Given the description of an element on the screen output the (x, y) to click on. 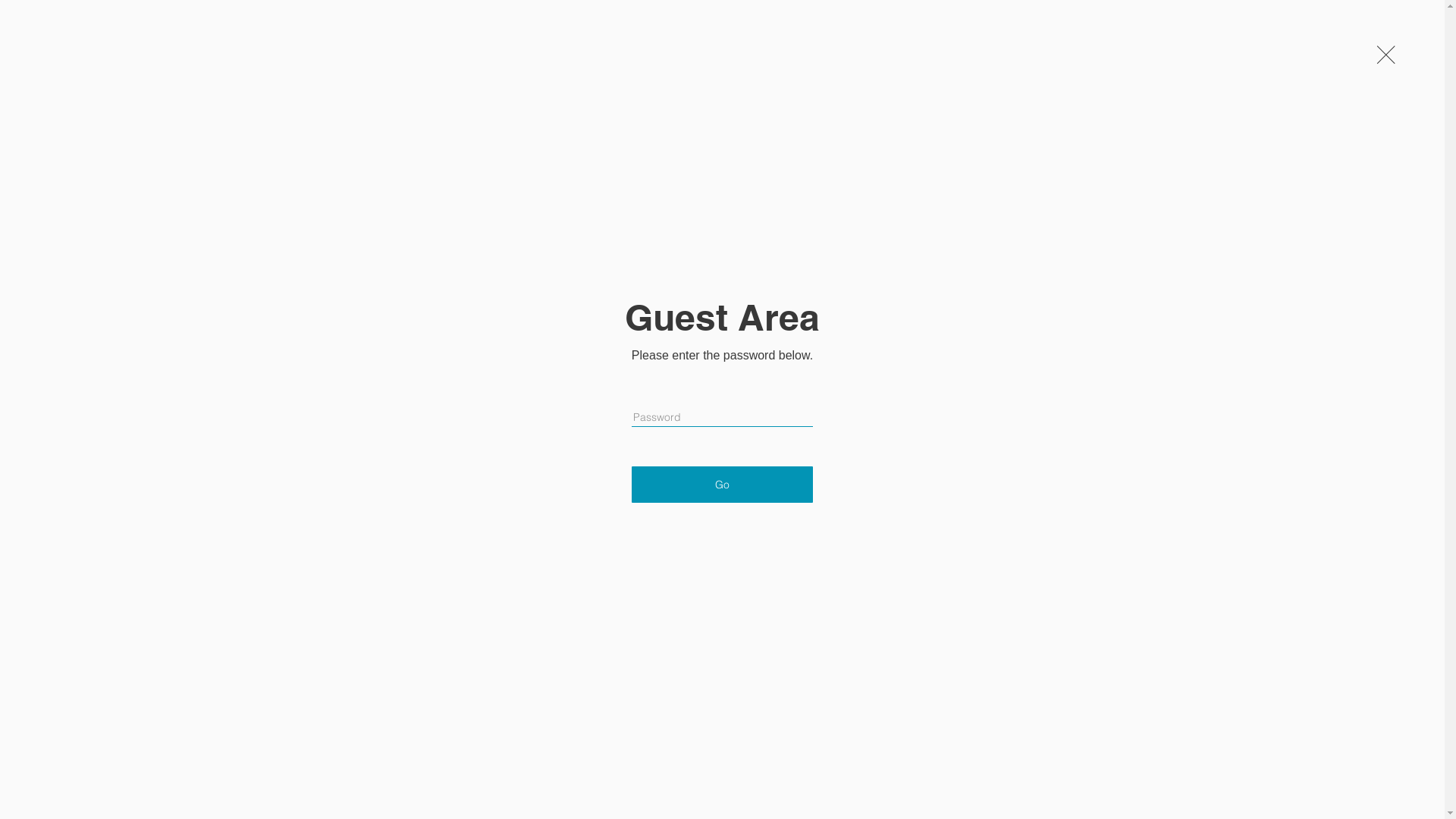
Go Element type: text (721, 484)
